Given the description of an element on the screen output the (x, y) to click on. 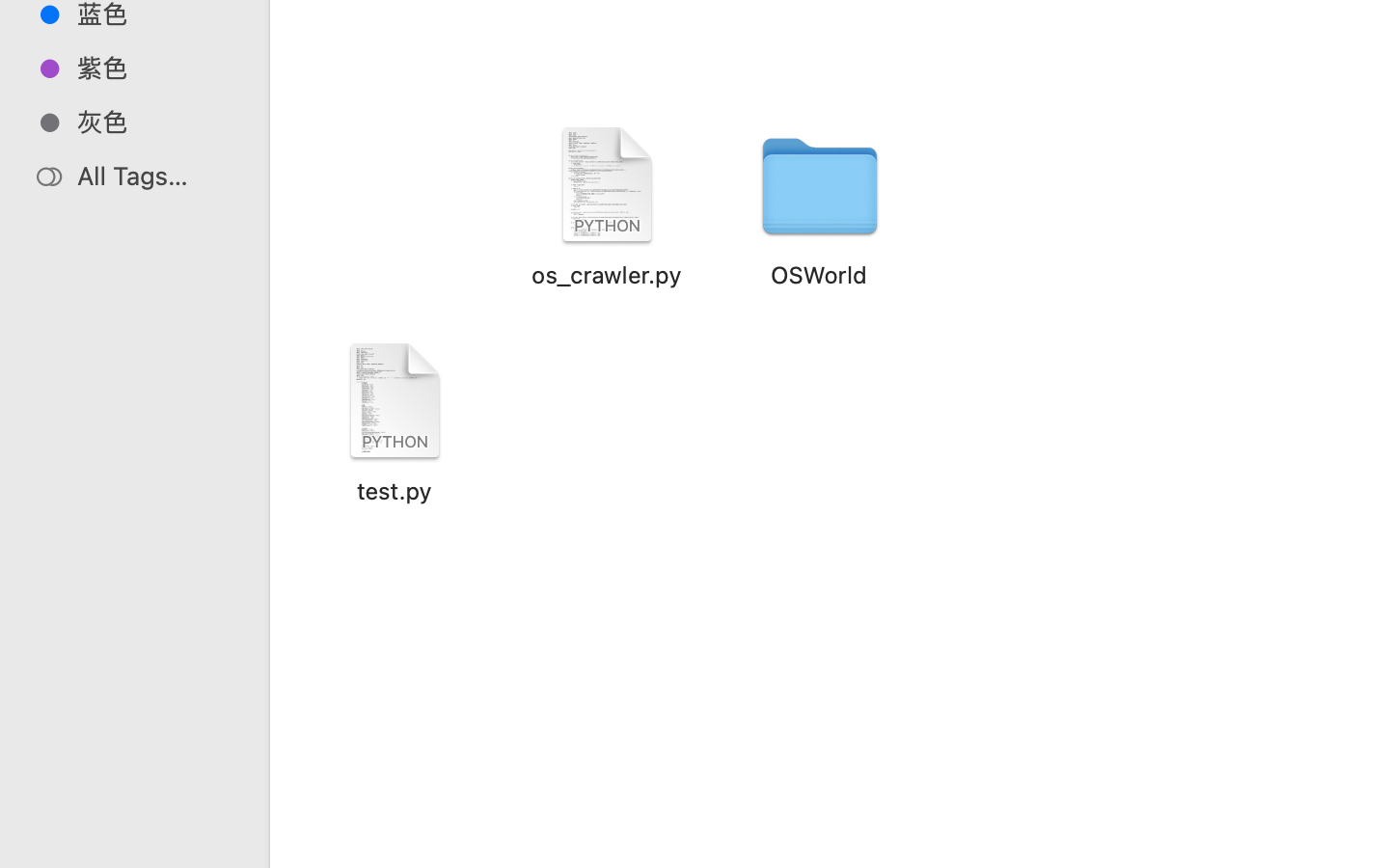
All Tags… Element type: AXStaticText (155, 175)
0 Element type: AXRadioButton (23, 846)
Tags… Element type: AXStaticText (41, 852)
紫色 Element type: AXStaticText (155, 67)
craw Element type: AXStaticText (875, 786)
